Given the description of an element on the screen output the (x, y) to click on. 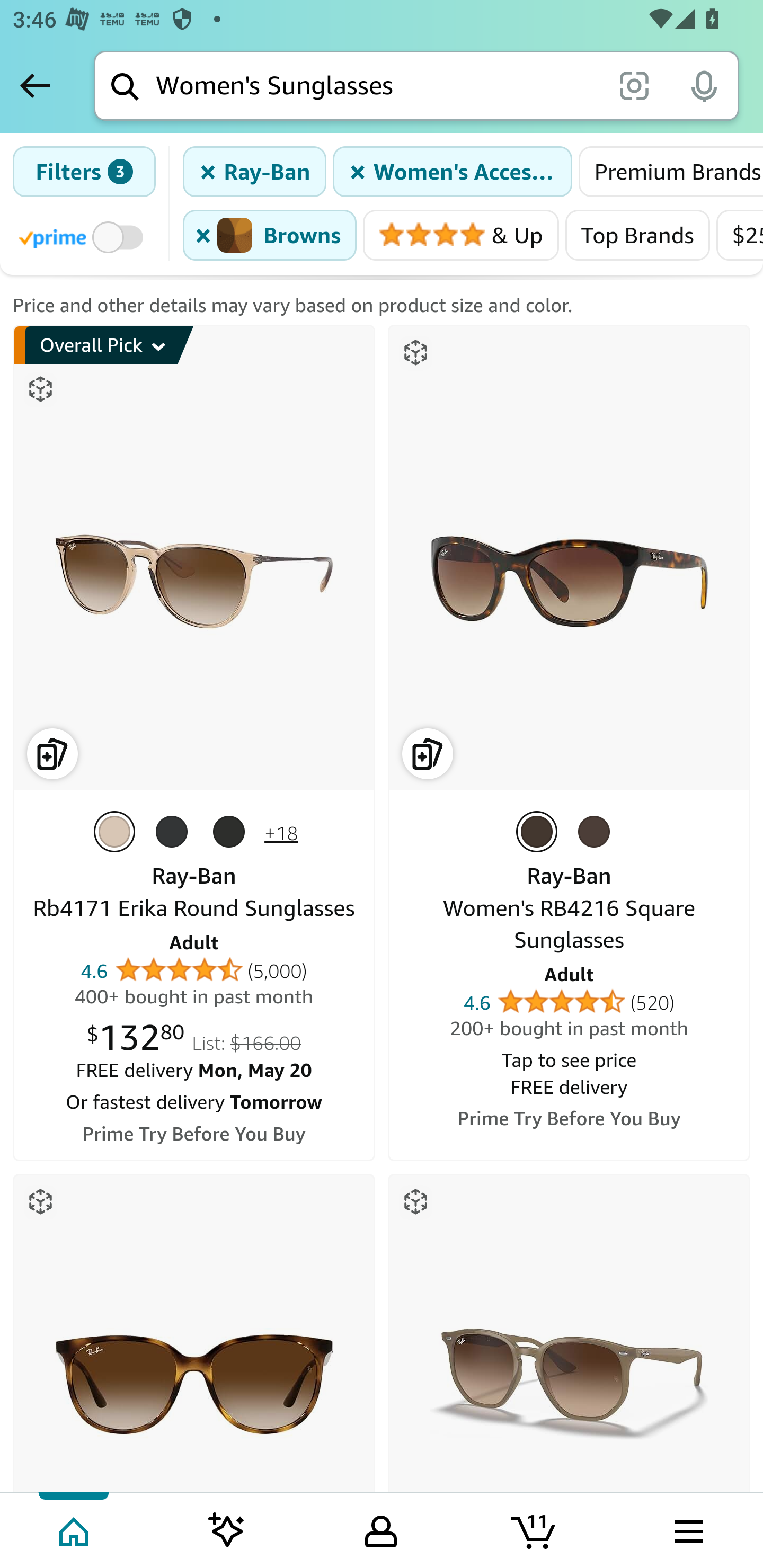
Back (35, 85)
scan it (633, 85)
Filters 3 (83, 172)
× Ray-Ban × Ray-Ban (255, 172)
× Women's Accessories × Women's Accessories (451, 172)
Premium Brands (669, 172)
2,951 (493, 169)
Toggle to filter by Prime products Prime Eligible (83, 236)
× Browns Browns × Browns Browns (270, 235)
4 Stars & Up (460, 235)
Top Brands (637, 235)
Transparent Light Brown/Brown Gradient Dark Brown (118, 831)
Black/Blue Flash (175, 831)
Black/Polarized Green (232, 831)
Light Havana/Brown Gradient (540, 831)
Light Havana/Polarized Brown Gradient (597, 831)
